Given the description of an element on the screen output the (x, y) to click on. 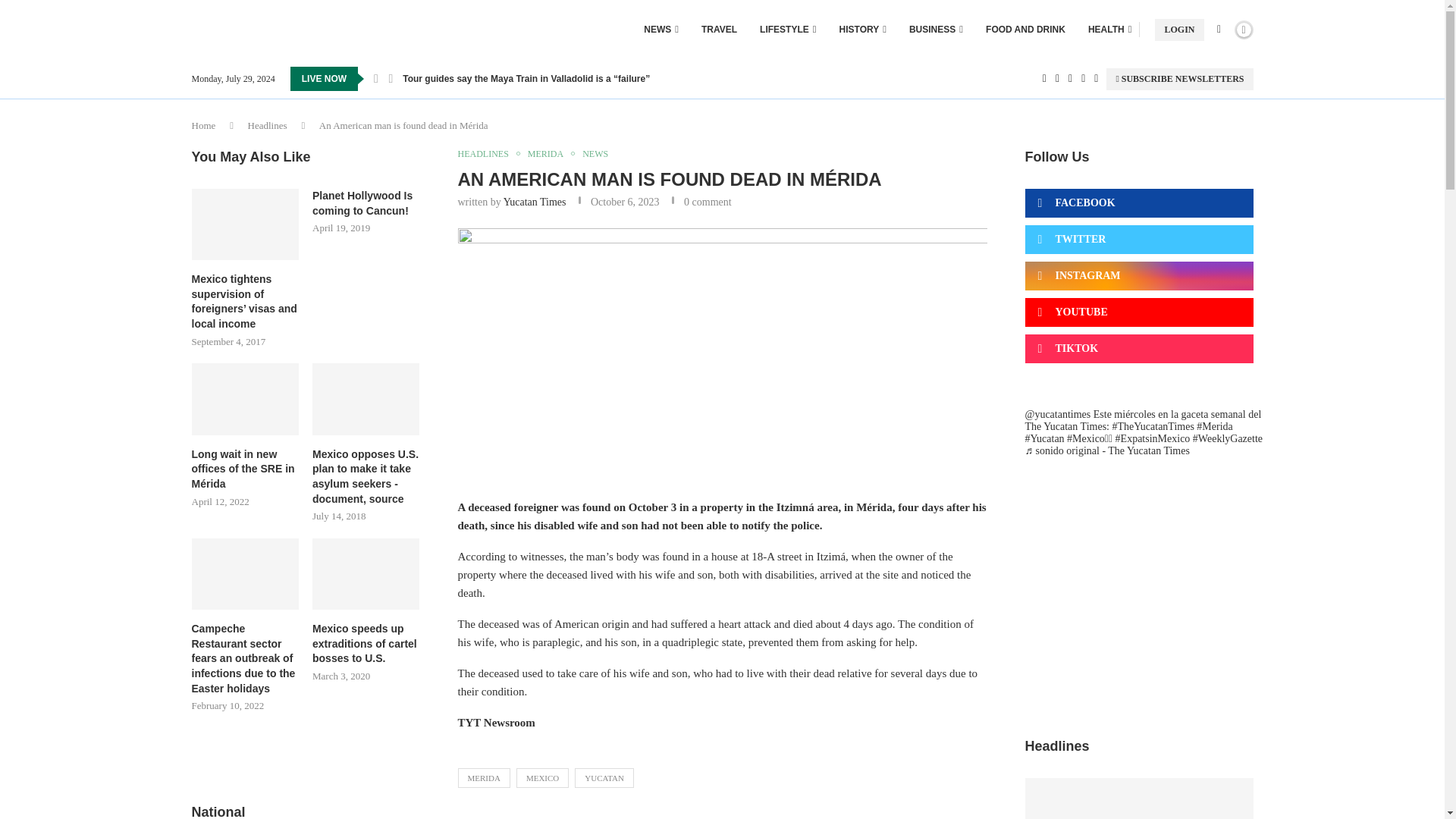
dead american (722, 353)
LIFESTYLE (787, 29)
